Given the description of an element on the screen output the (x, y) to click on. 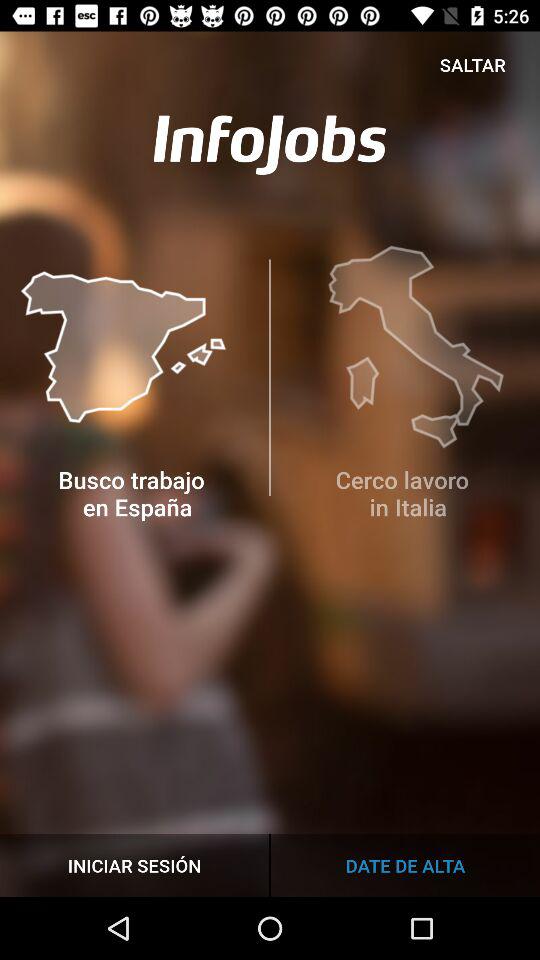
open icon at the bottom left corner (134, 864)
